Given the description of an element on the screen output the (x, y) to click on. 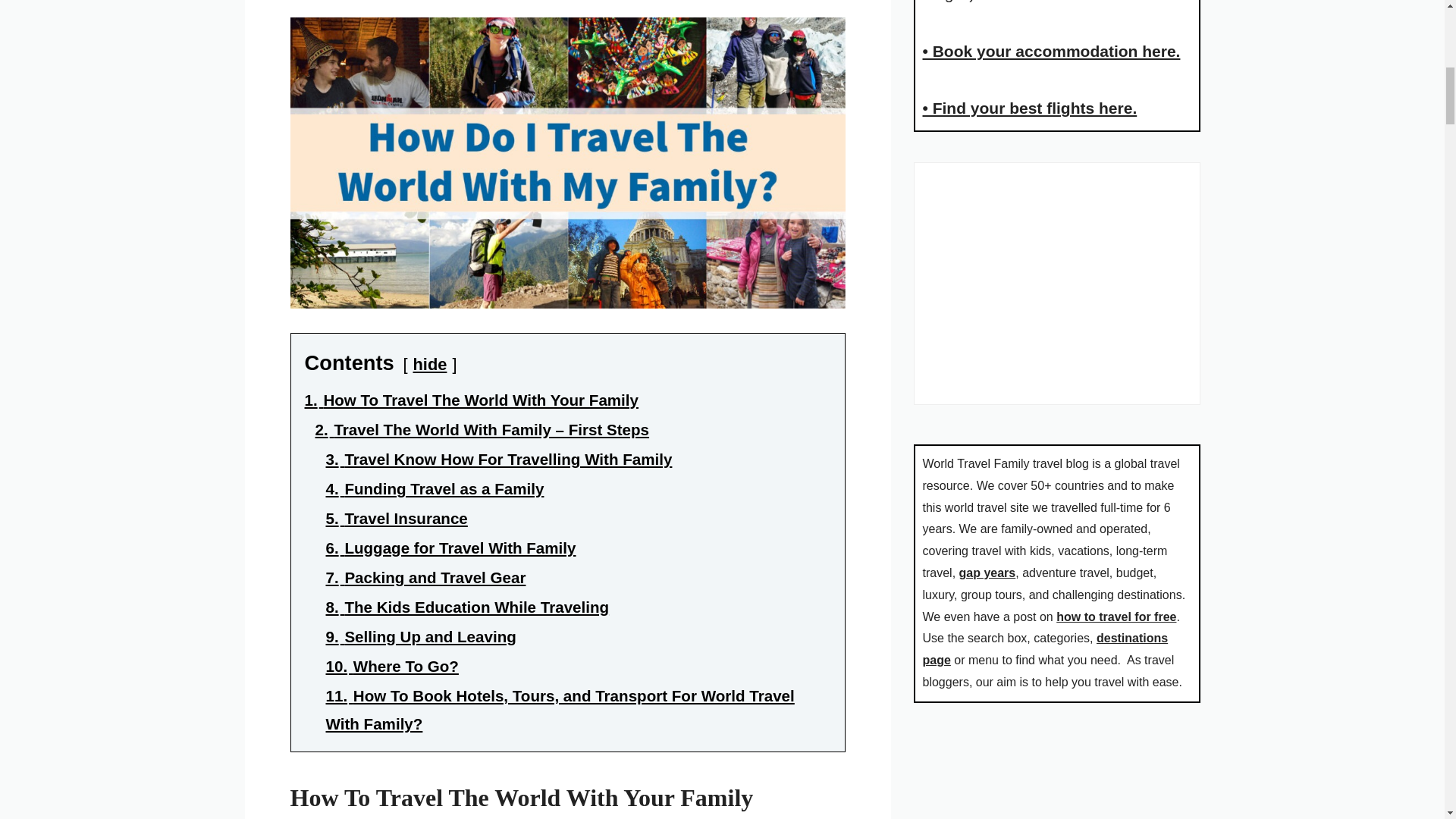
10. Where To Go? (392, 665)
hide (429, 363)
6. Luggage for Travel With Family (451, 547)
8. The Kids Education While Traveling (468, 606)
5. Travel Insurance (396, 518)
4. Funding Travel as a Family (435, 488)
7. Packing and Travel Gear (425, 577)
9. Selling Up and Leaving (421, 636)
3. Travel Know How For Travelling With Family (499, 458)
